Given the description of an element on the screen output the (x, y) to click on. 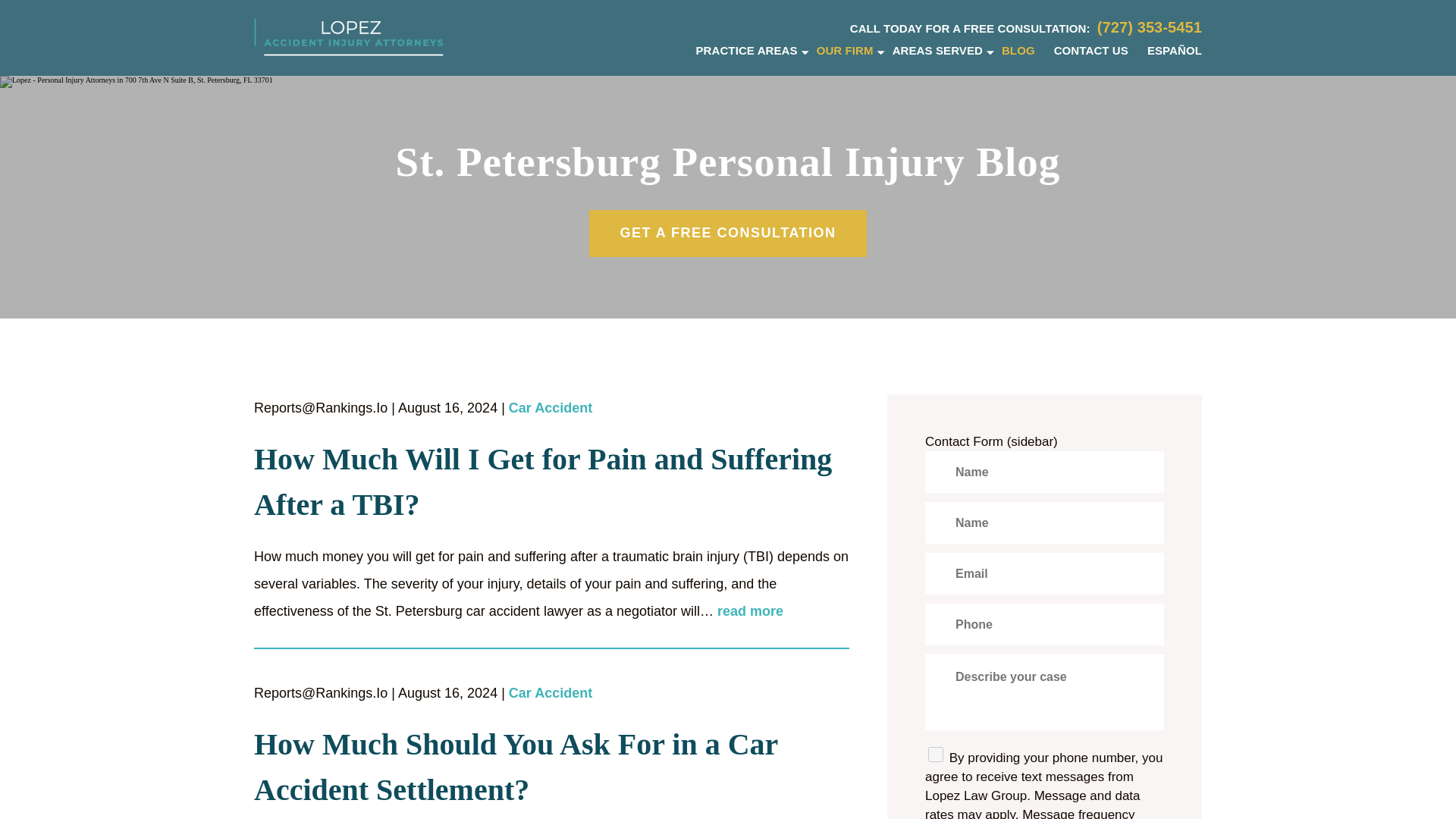
Car Accident (550, 408)
AREAS SERVED (937, 50)
read more (750, 611)
1 (935, 754)
How Much Should You Ask For in a Car Accident Settlement? (550, 767)
How Much Will I Get for Pain and Suffering After a TBI? (550, 481)
GET A FREE CONSULTATION (727, 233)
CONTACT US (1091, 50)
PRACTICE AREAS (745, 50)
Car Accident (550, 693)
